Given the description of an element on the screen output the (x, y) to click on. 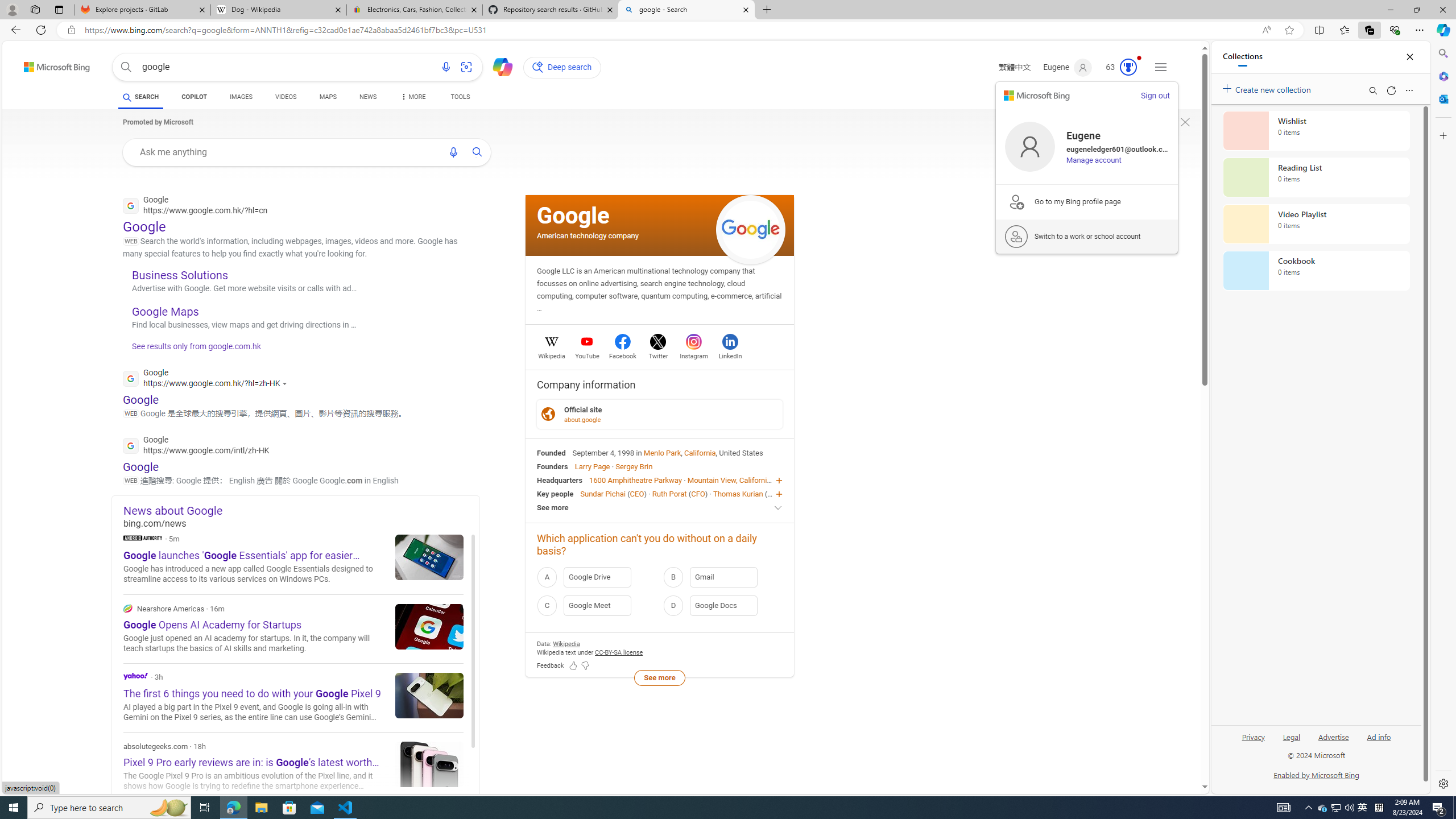
Sundar Pichai (602, 492)
AutomationID: uaseabtn (478, 151)
Ask me anything (285, 151)
bing.com/news (301, 522)
microsoft logo (1036, 95)
Back to Bing search (50, 64)
Search button (126, 66)
SEARCH (140, 96)
